Given the description of an element on the screen output the (x, y) to click on. 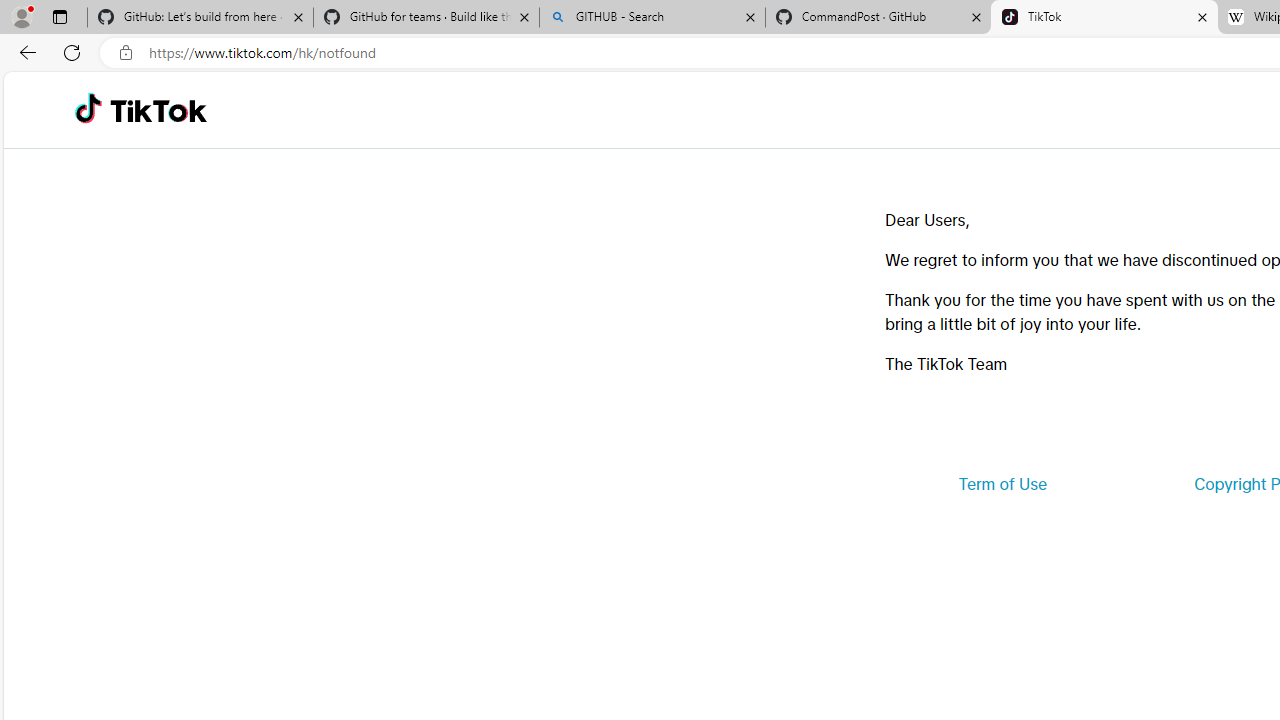
TikTok (1104, 17)
GITHUB - Search (652, 17)
Term of Use (1002, 484)
TikTok (158, 110)
